Given the description of an element on the screen output the (x, y) to click on. 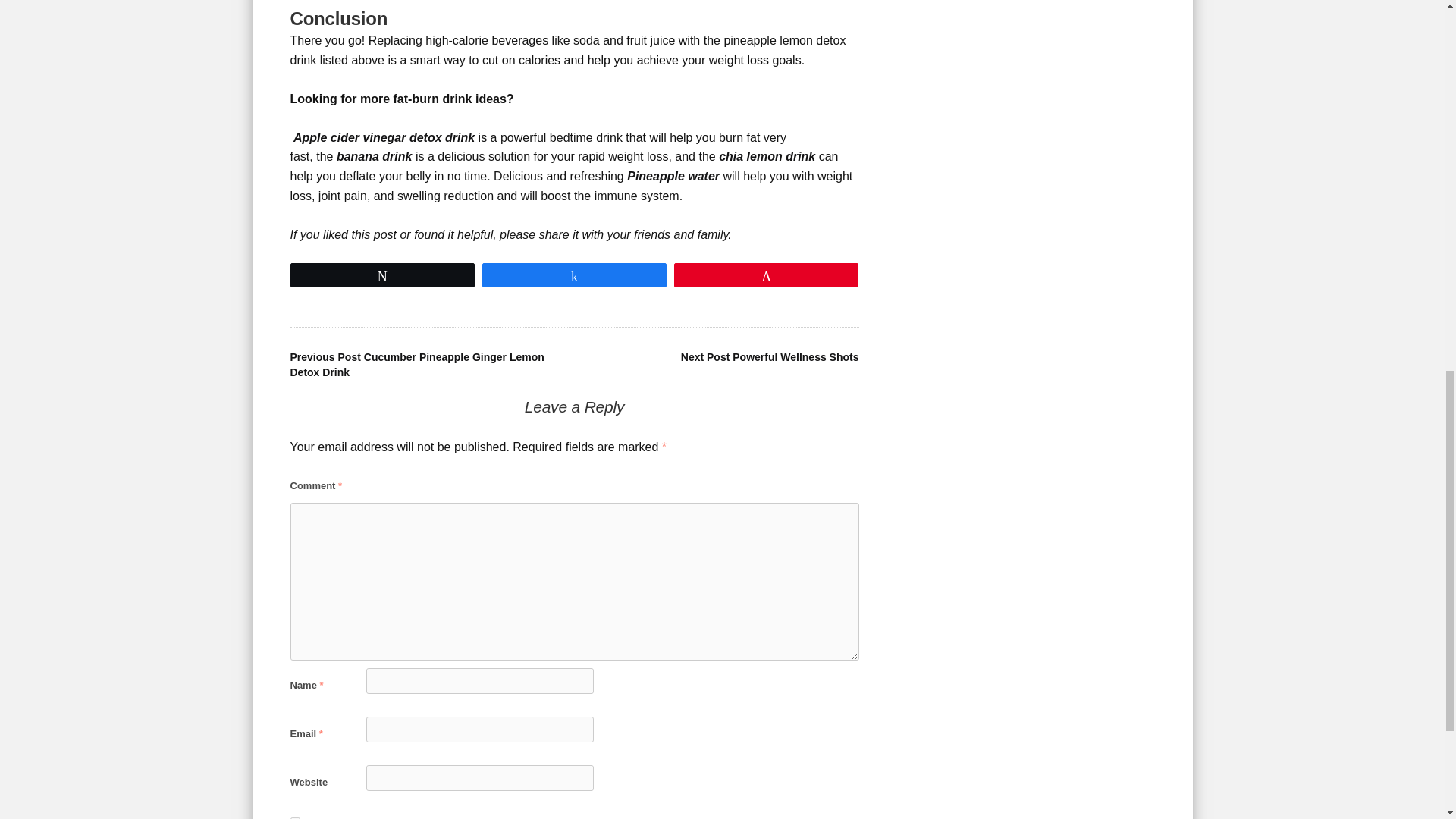
Apple cider vinegar detox drink (384, 137)
Previous Post Cucumber Pineapple Ginger Lemon Detox Drink (416, 364)
Pineapple water (673, 175)
chia lemon drink (767, 155)
Next Post Powerful Wellness Shots (770, 357)
banana drink (374, 155)
